Given the description of an element on the screen output the (x, y) to click on. 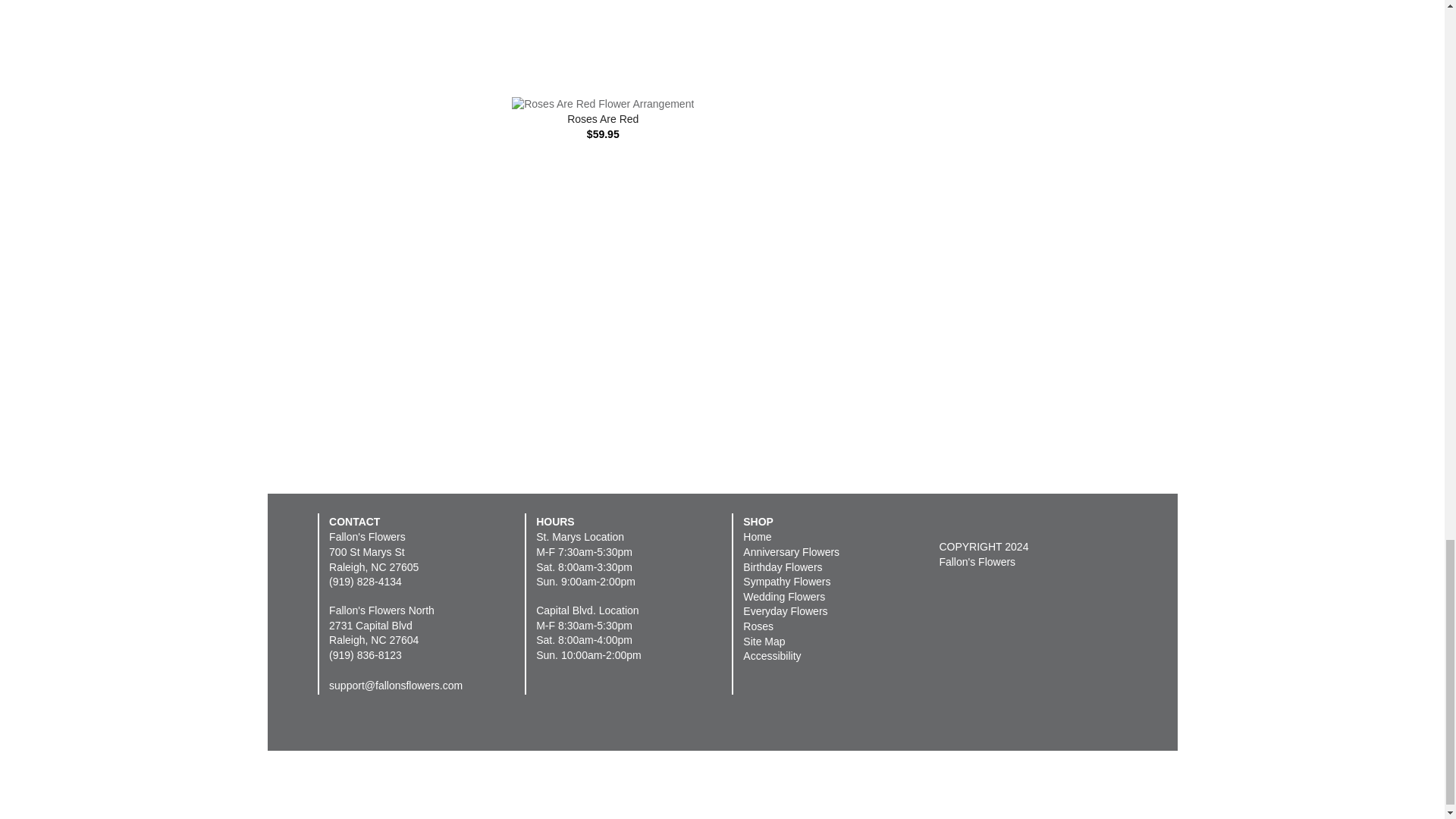
shop phone number (365, 581)
Wedding Flowers (783, 596)
Open in Google Maps (374, 633)
Home (756, 536)
Site Map (763, 641)
Accessibility (771, 655)
Roses (757, 625)
Everyday Flowers (784, 611)
shop phone number (365, 654)
Sympathy Flowers (785, 581)
